Given the description of an element on the screen output the (x, y) to click on. 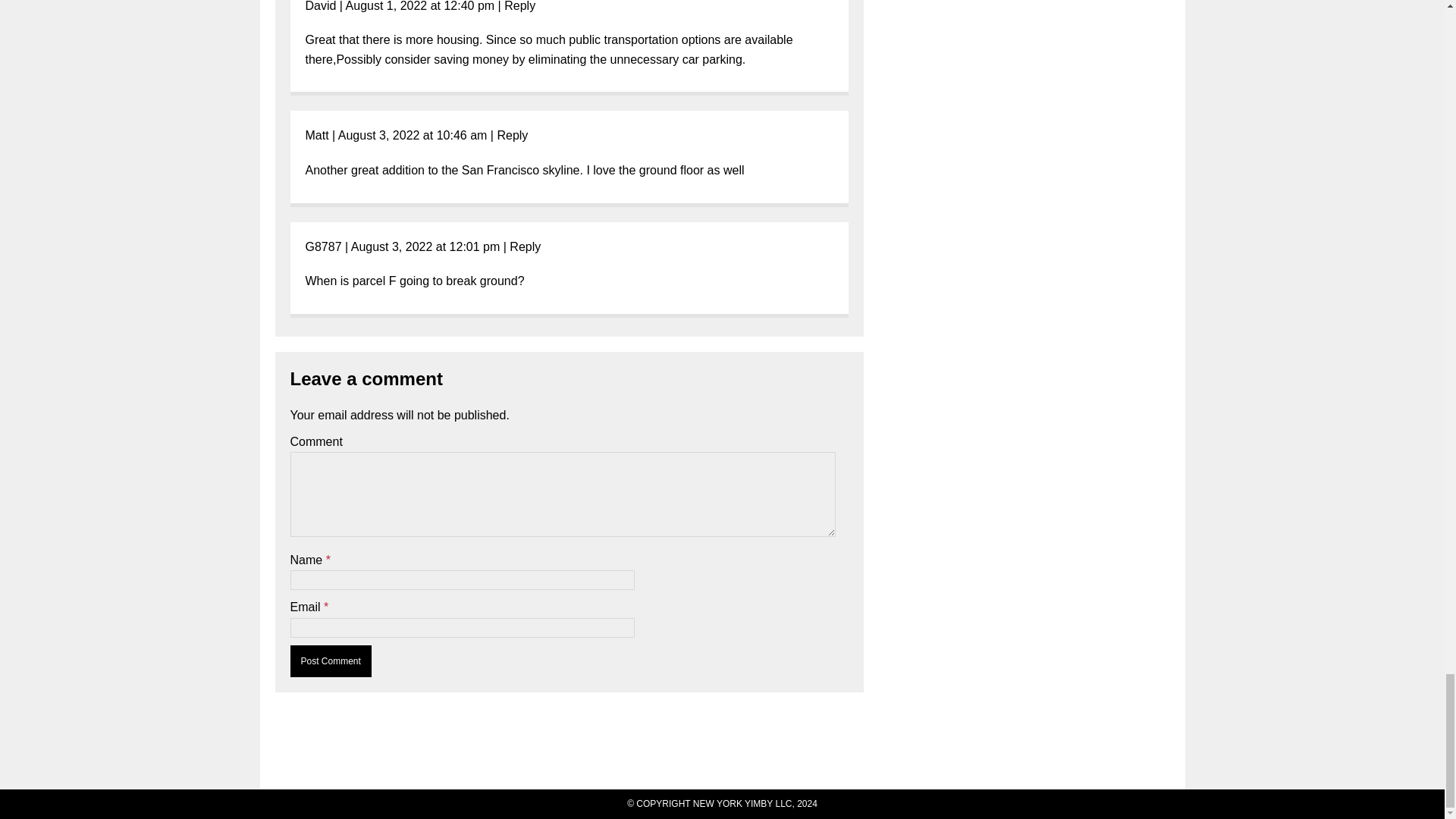
Post Comment (330, 661)
